Given the description of an element on the screen output the (x, y) to click on. 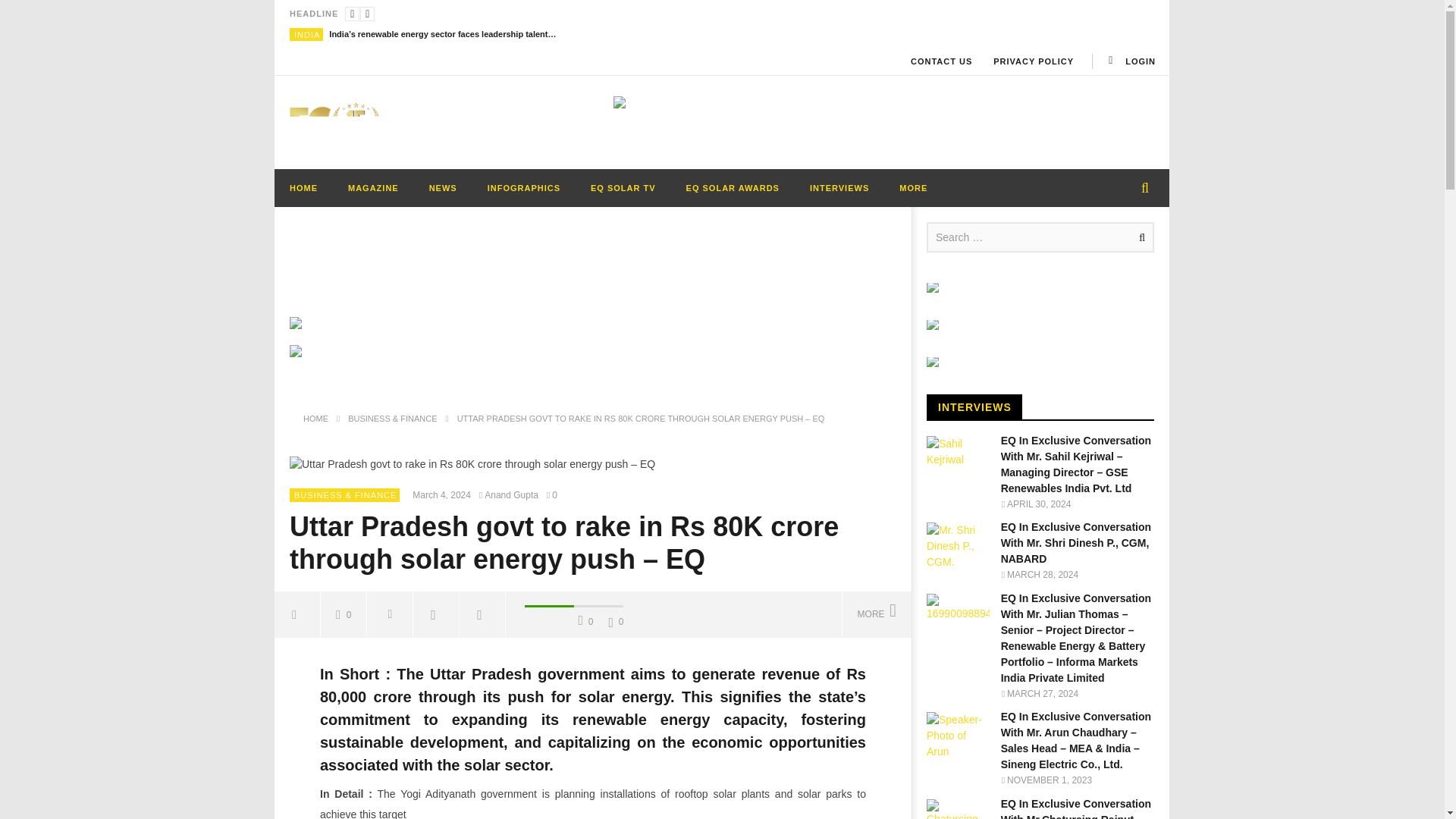
View all posts in India (307, 34)
Posts by Anand Gupta (511, 495)
REPORT THIS (389, 614)
INDIA (307, 34)
Search (1139, 236)
PRIVACY POLICY (1033, 61)
CONTACT US (940, 61)
HOME (304, 187)
The Leading Solar Magazine In India (334, 123)
MAGAZINE (373, 187)
